Given the description of an element on the screen output the (x, y) to click on. 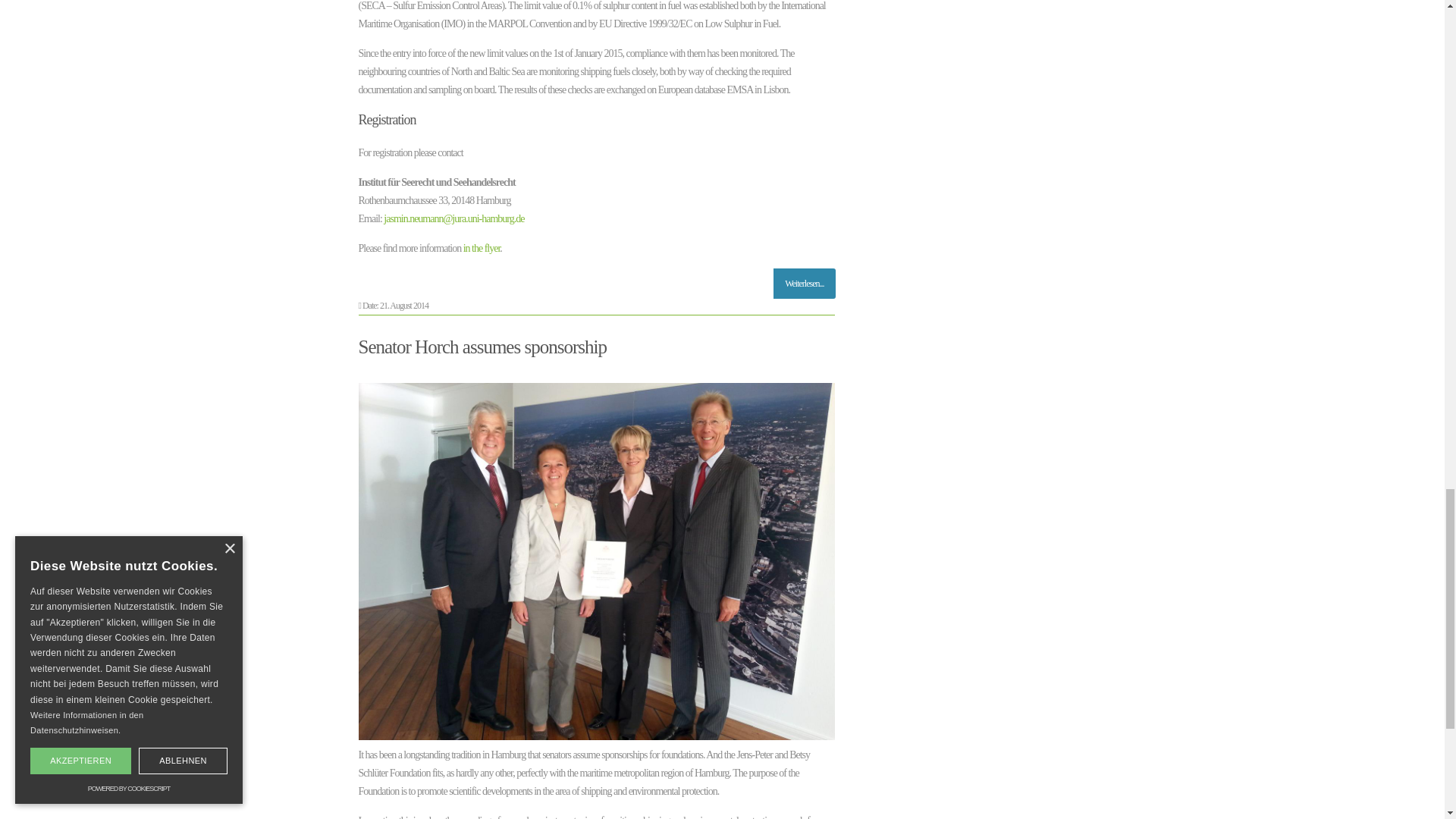
in the flyer (481, 247)
Weiterlesen... (803, 283)
